Given the description of an element on the screen output the (x, y) to click on. 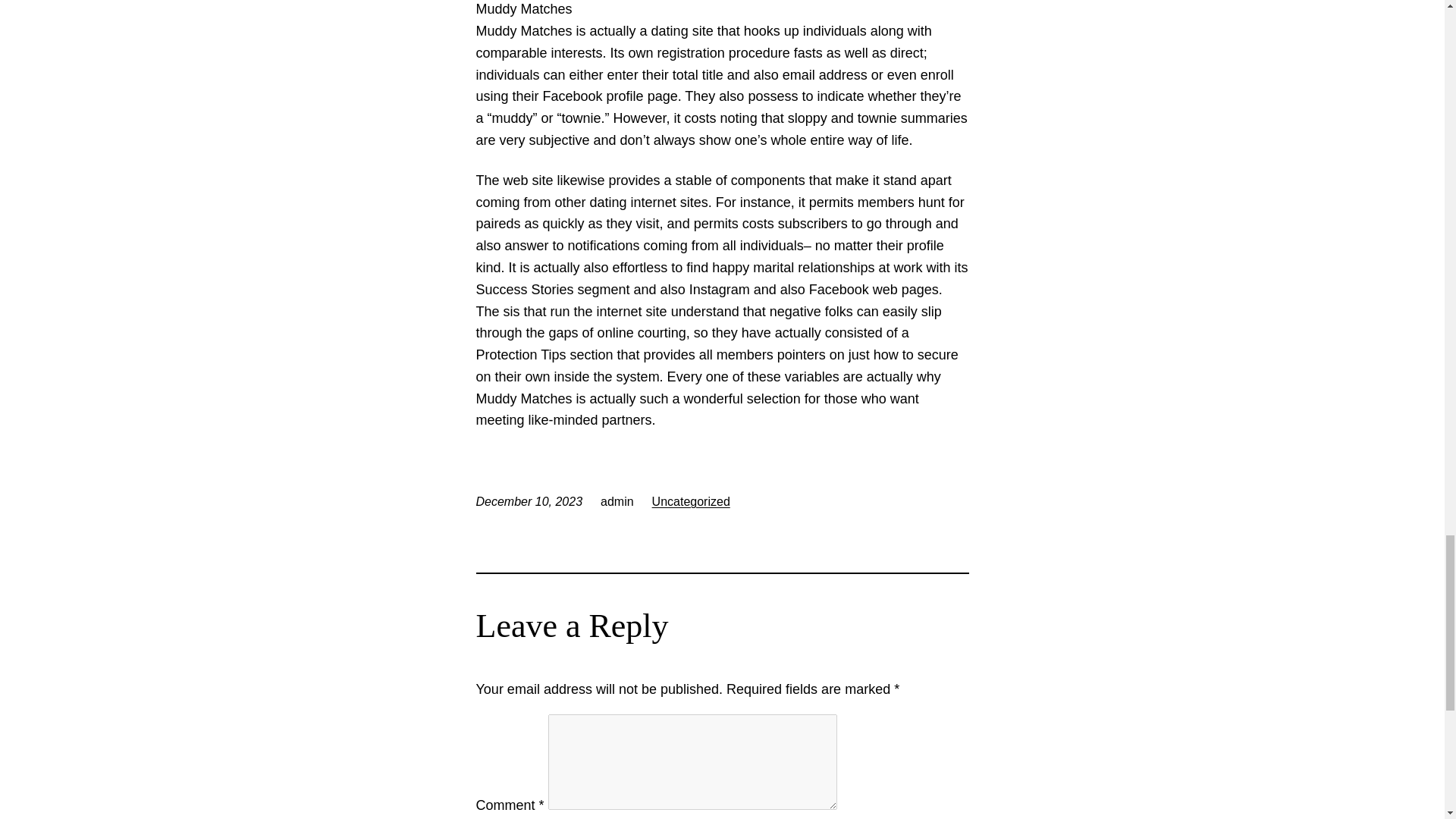
Uncategorized (691, 501)
